Given the description of an element on the screen output the (x, y) to click on. 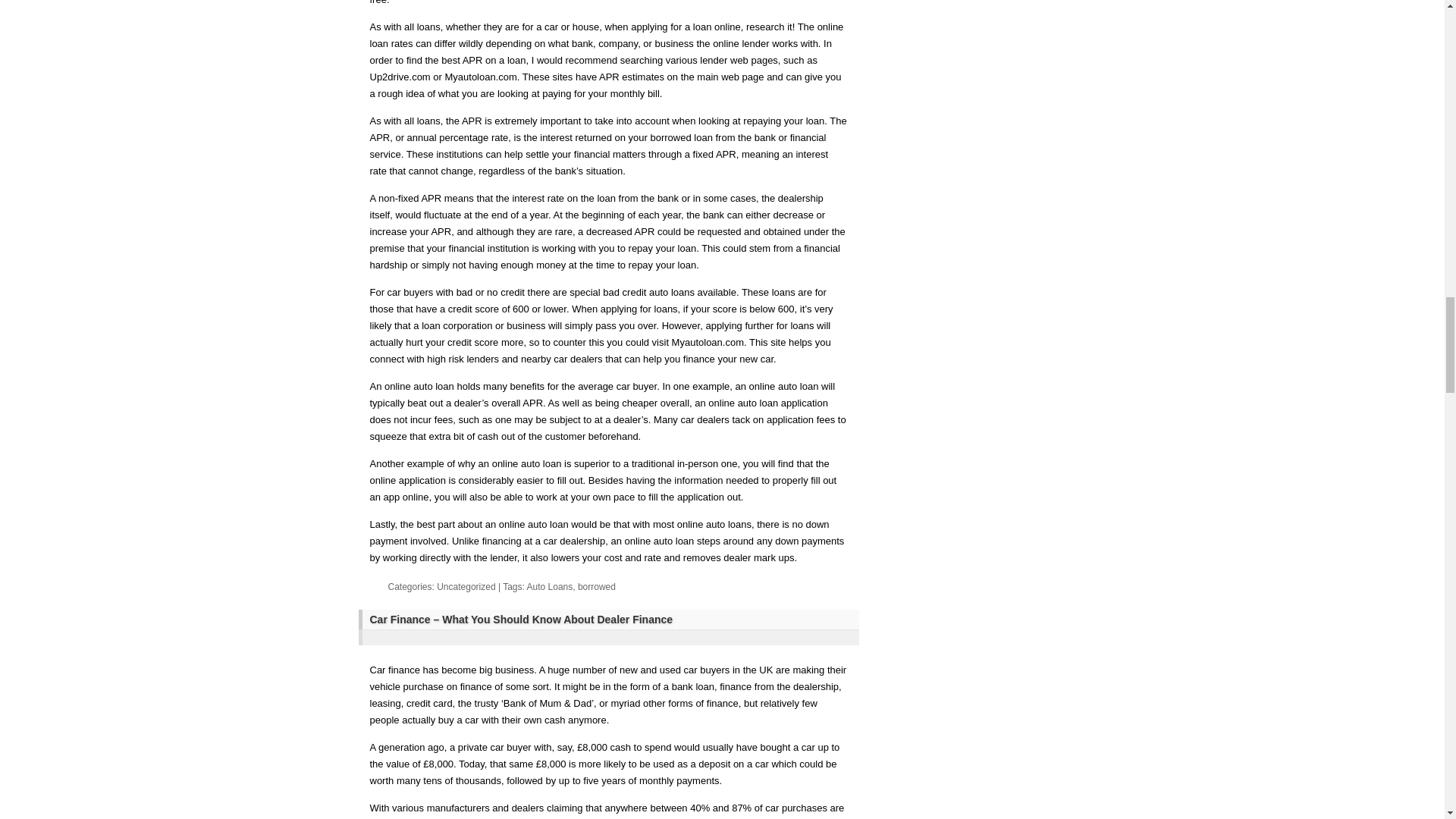
View all posts in Uncategorized (465, 586)
Uncategorized (465, 586)
borrowed (596, 586)
Auto Loans (550, 586)
